Given the description of an element on the screen output the (x, y) to click on. 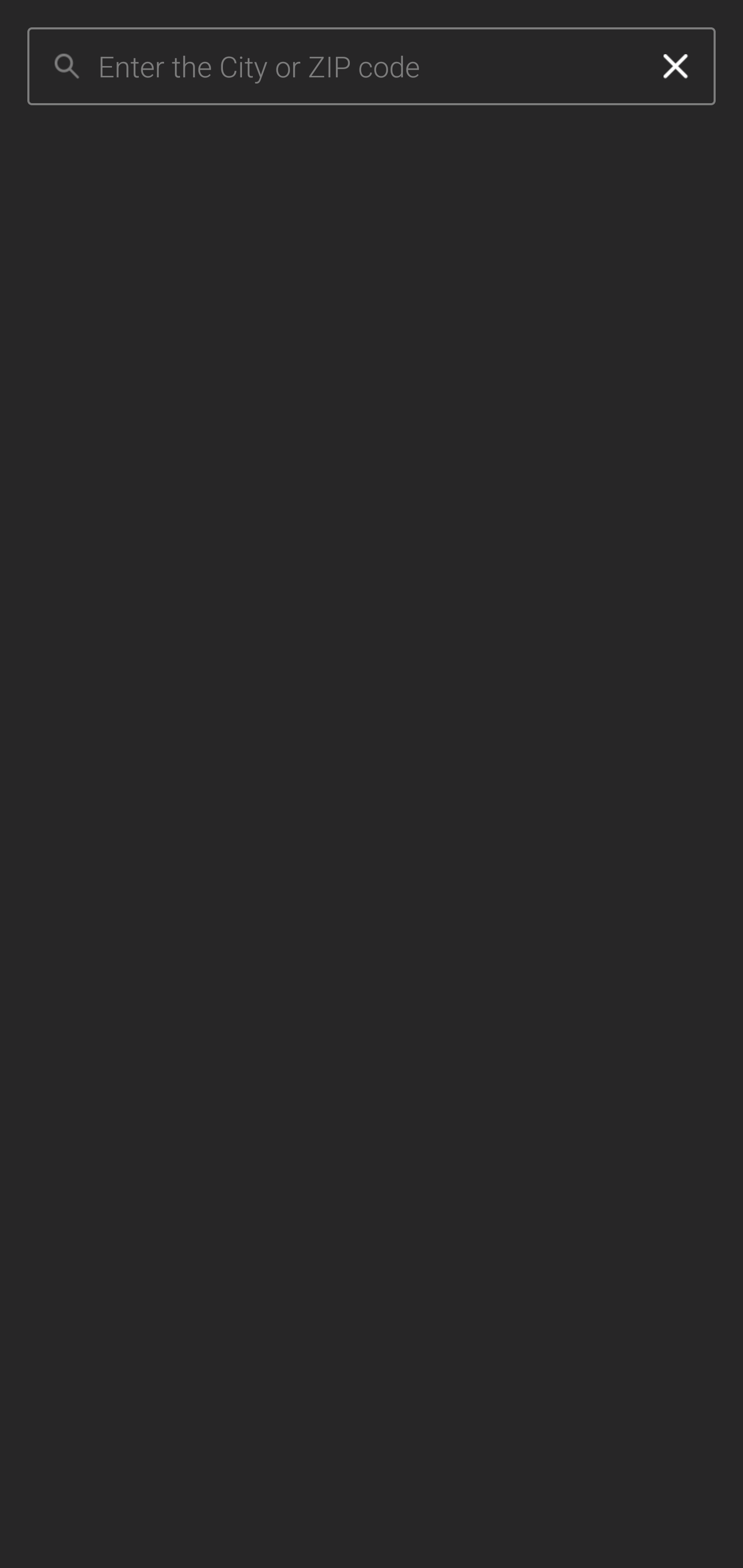
Enter the City or ZIP code (367, 66)
